Given the description of an element on the screen output the (x, y) to click on. 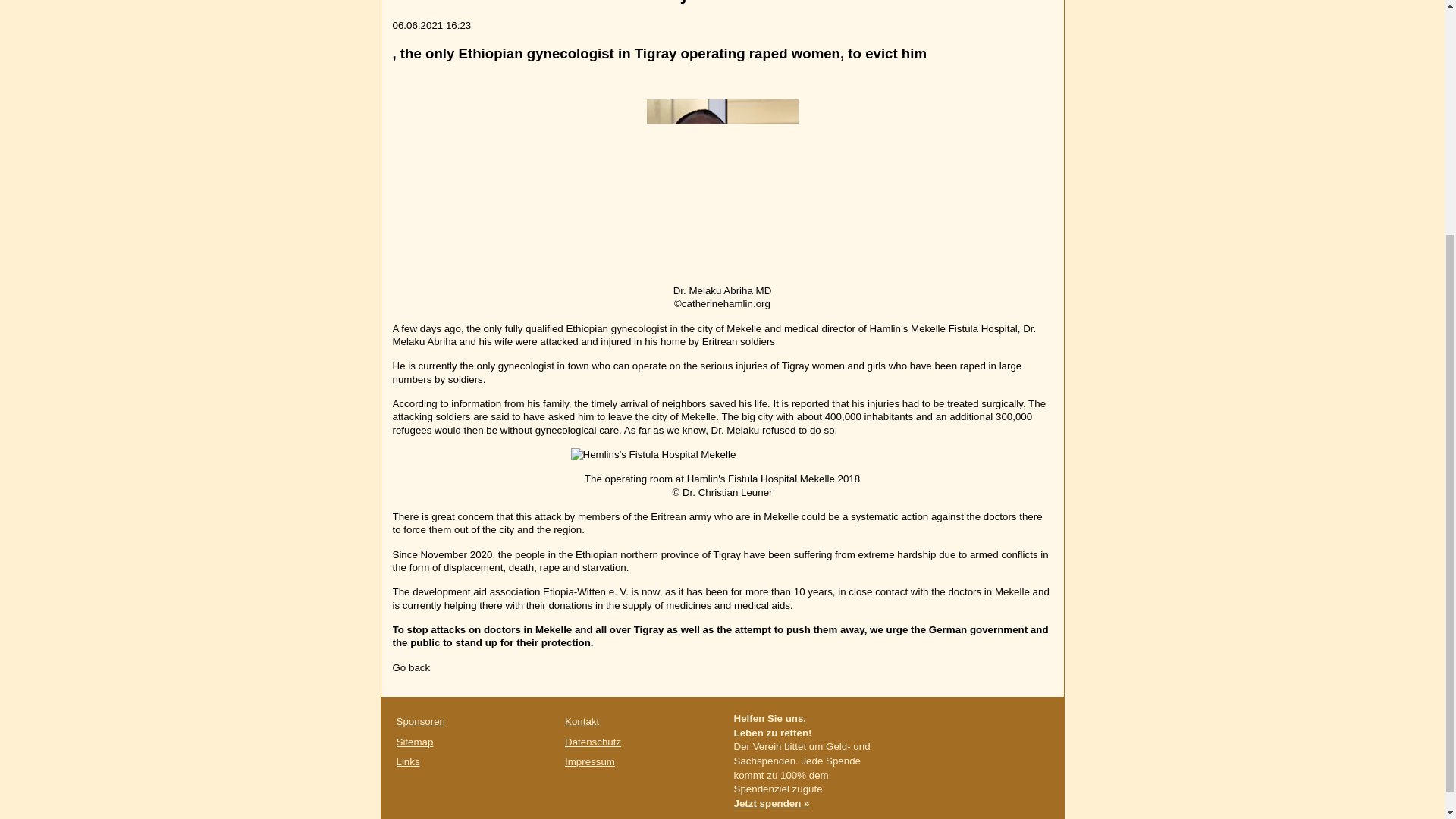
Sitemap (414, 741)
Go back (411, 667)
Sponsoren (420, 721)
Kontakt (581, 721)
Links (407, 761)
